Given the description of an element on the screen output the (x, y) to click on. 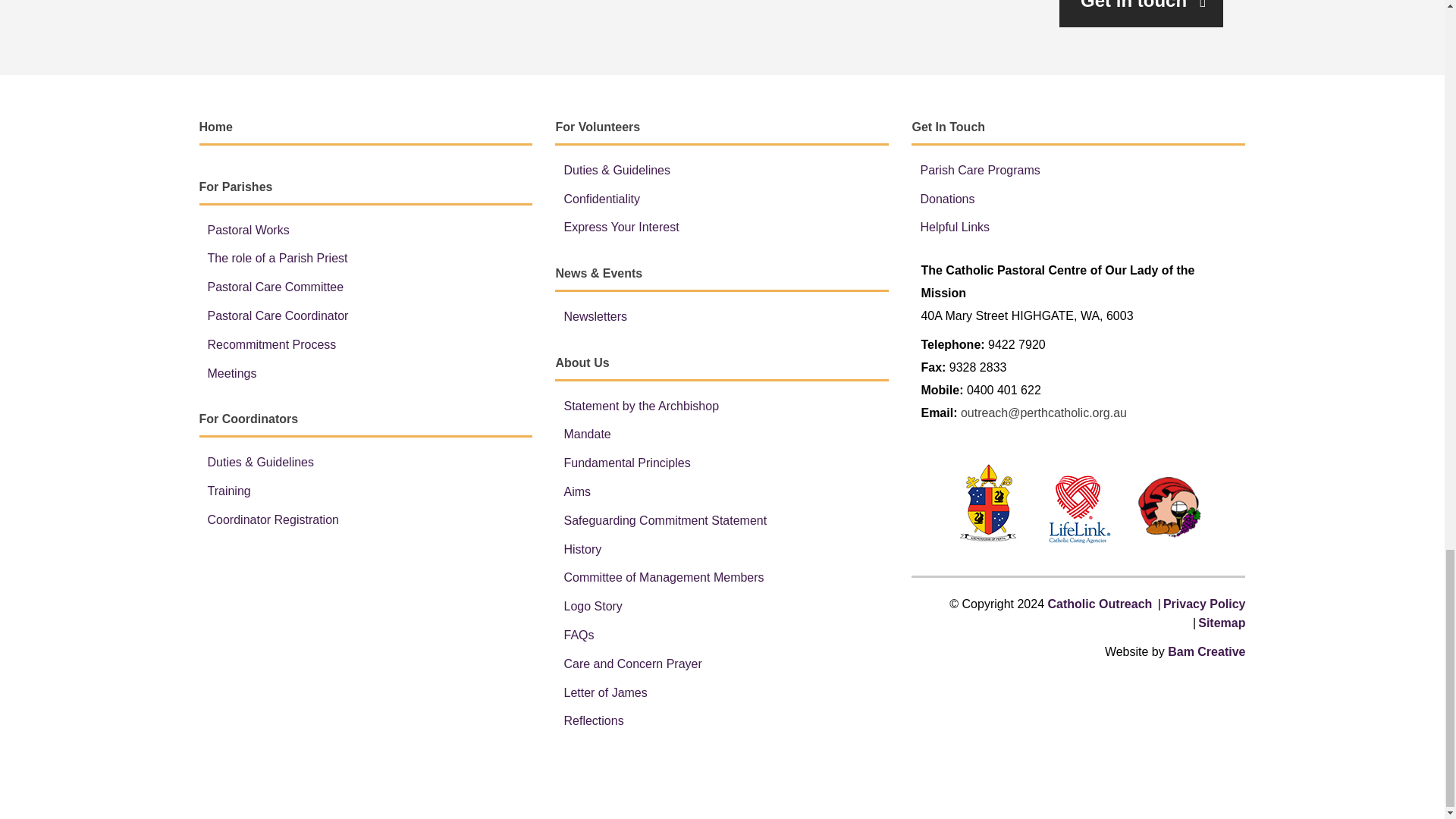
Go to the Catholic Outreach Homepage (1100, 603)
View our Privacy Policy (1204, 603)
View the Sitemap (1221, 622)
